Given the description of an element on the screen output the (x, y) to click on. 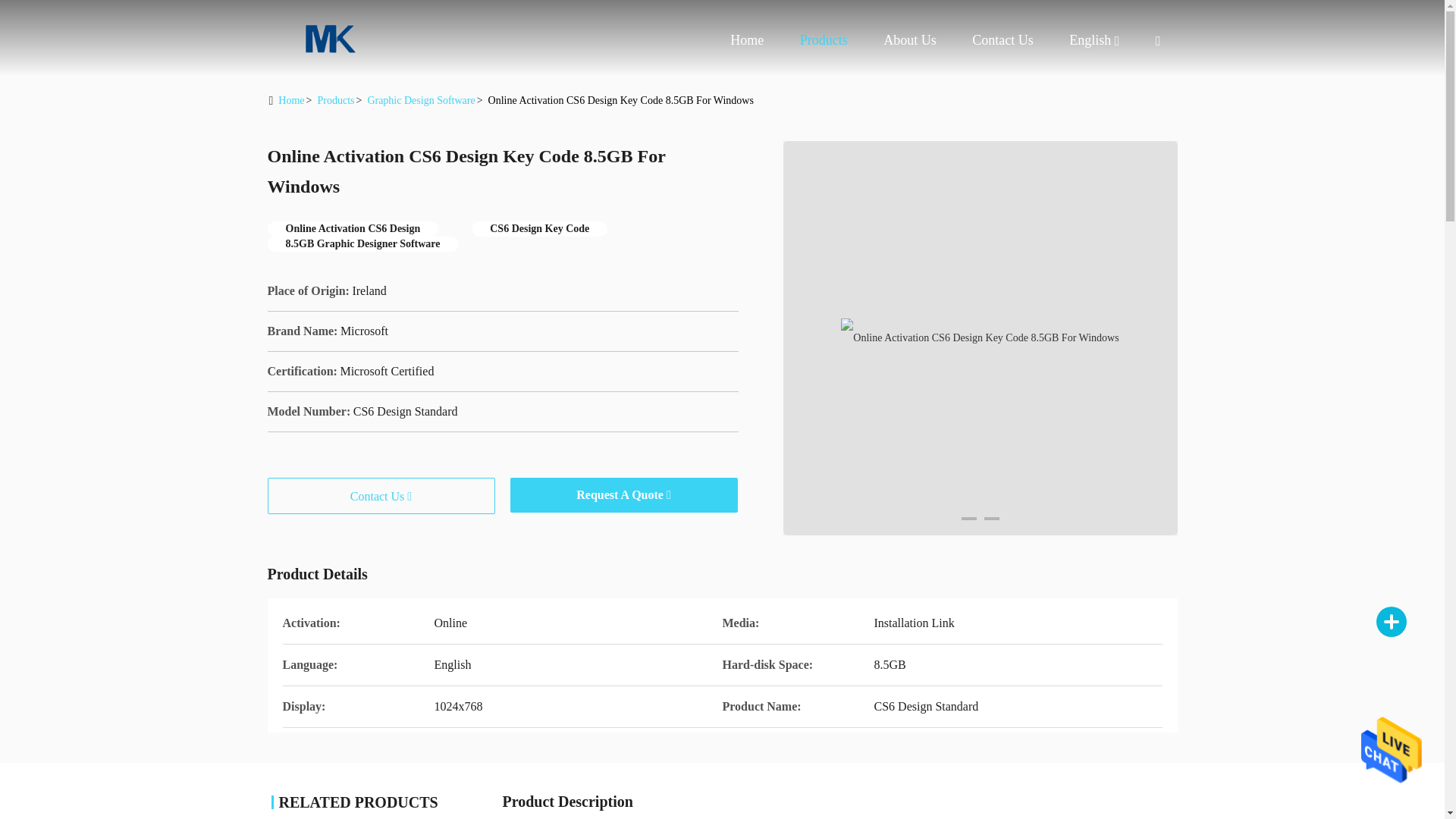
Products (823, 40)
Products (823, 40)
About Us (909, 40)
Home (327, 37)
Contact Us (1002, 40)
